Given the description of an element on the screen output the (x, y) to click on. 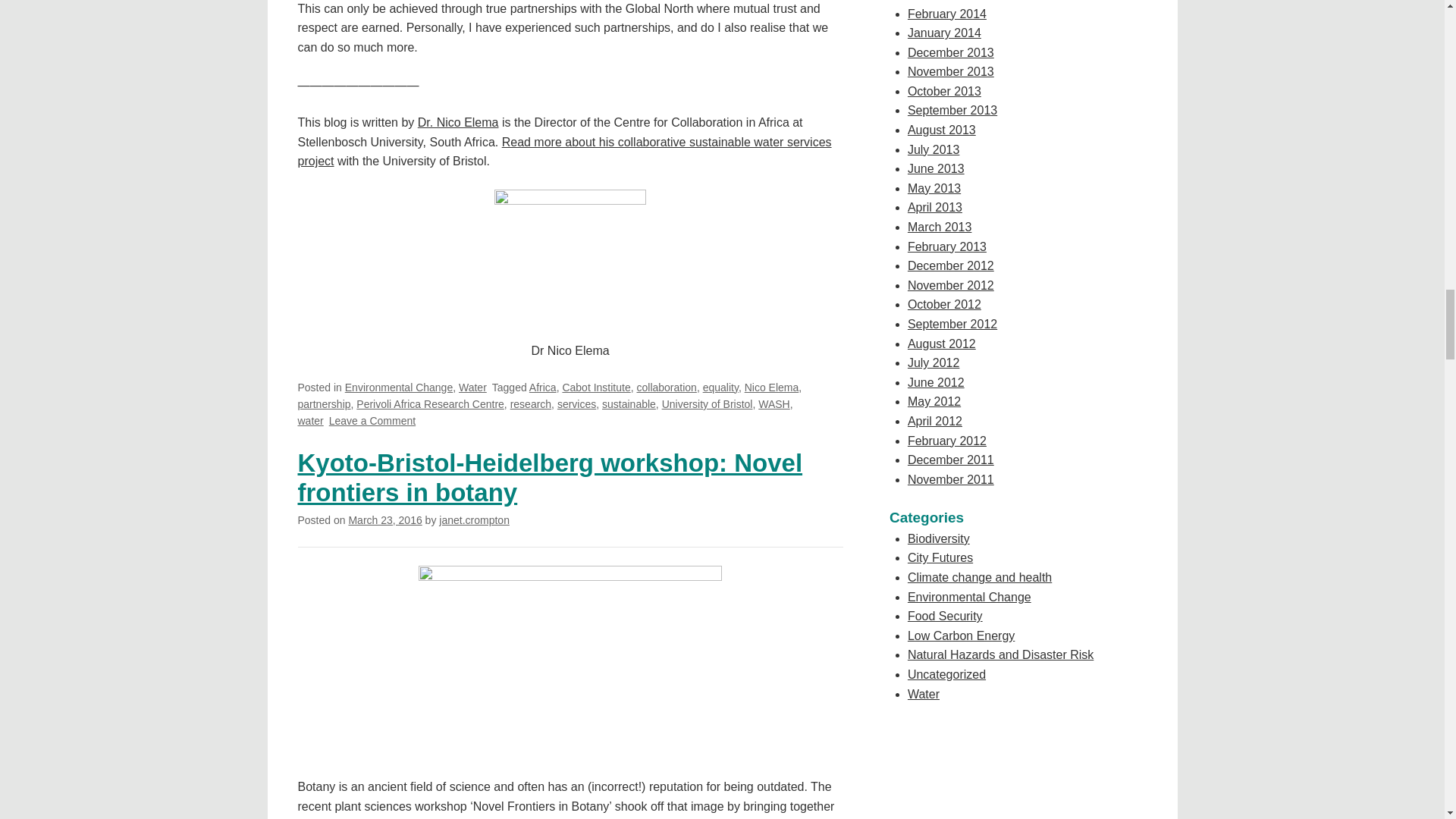
partnership (323, 404)
Dr. Nico Elema (458, 122)
Environmental Change (398, 387)
equality (720, 387)
Water (472, 387)
collaboration (667, 387)
research (531, 404)
Perivoli Africa Research Centre (429, 404)
Africa (542, 387)
Nico Elema (771, 387)
Cabot Institute (596, 387)
